Given the description of an element on the screen output the (x, y) to click on. 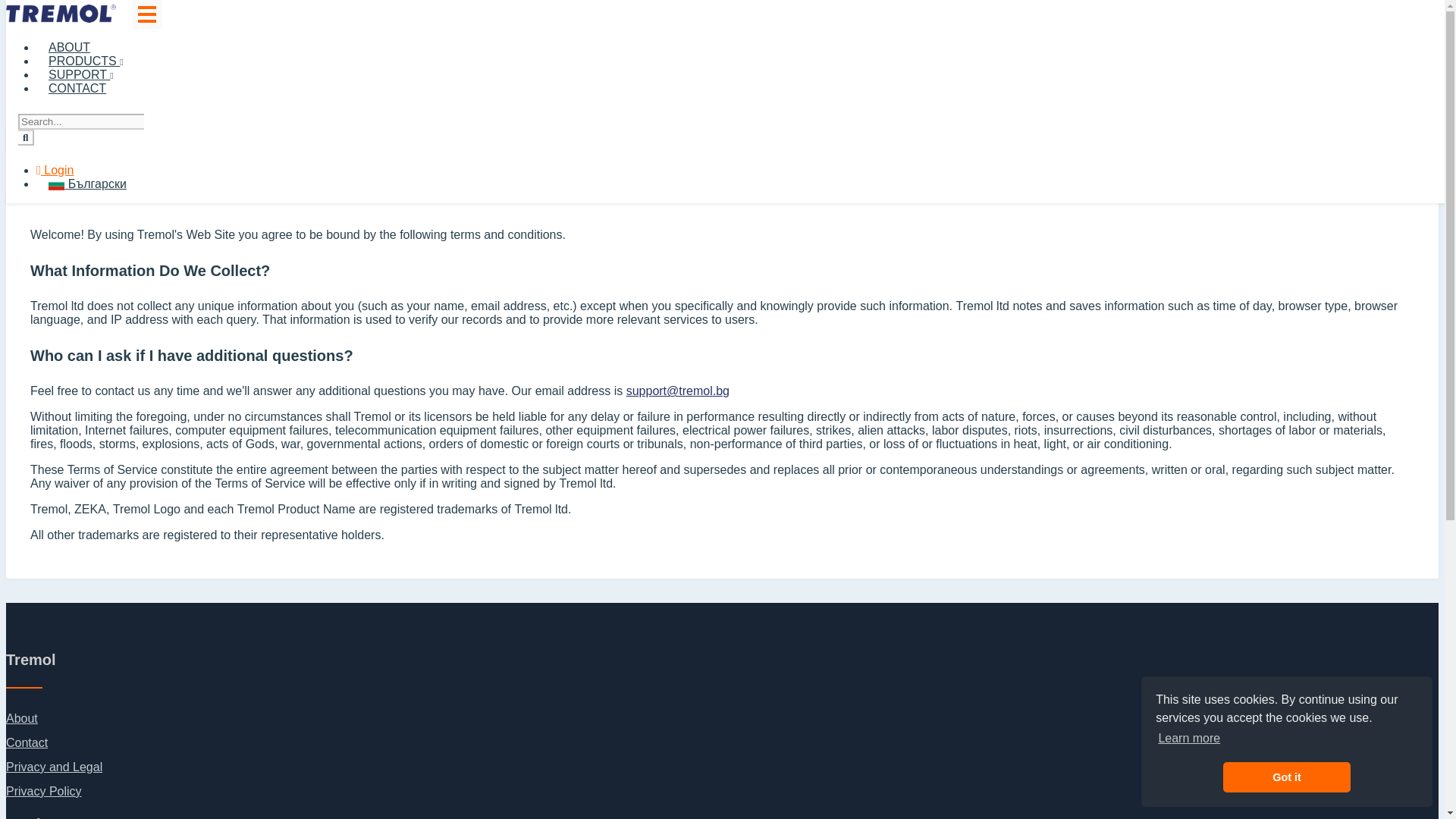
SUPPORT (80, 74)
PRODUCTS (85, 60)
Got it (1286, 777)
CONTACT (76, 88)
Contact (26, 742)
Learn more (1189, 738)
ABOUT (68, 47)
About (21, 717)
Privacy Policy (43, 790)
Login (55, 169)
Privacy and Legal (53, 766)
